Given the description of an element on the screen output the (x, y) to click on. 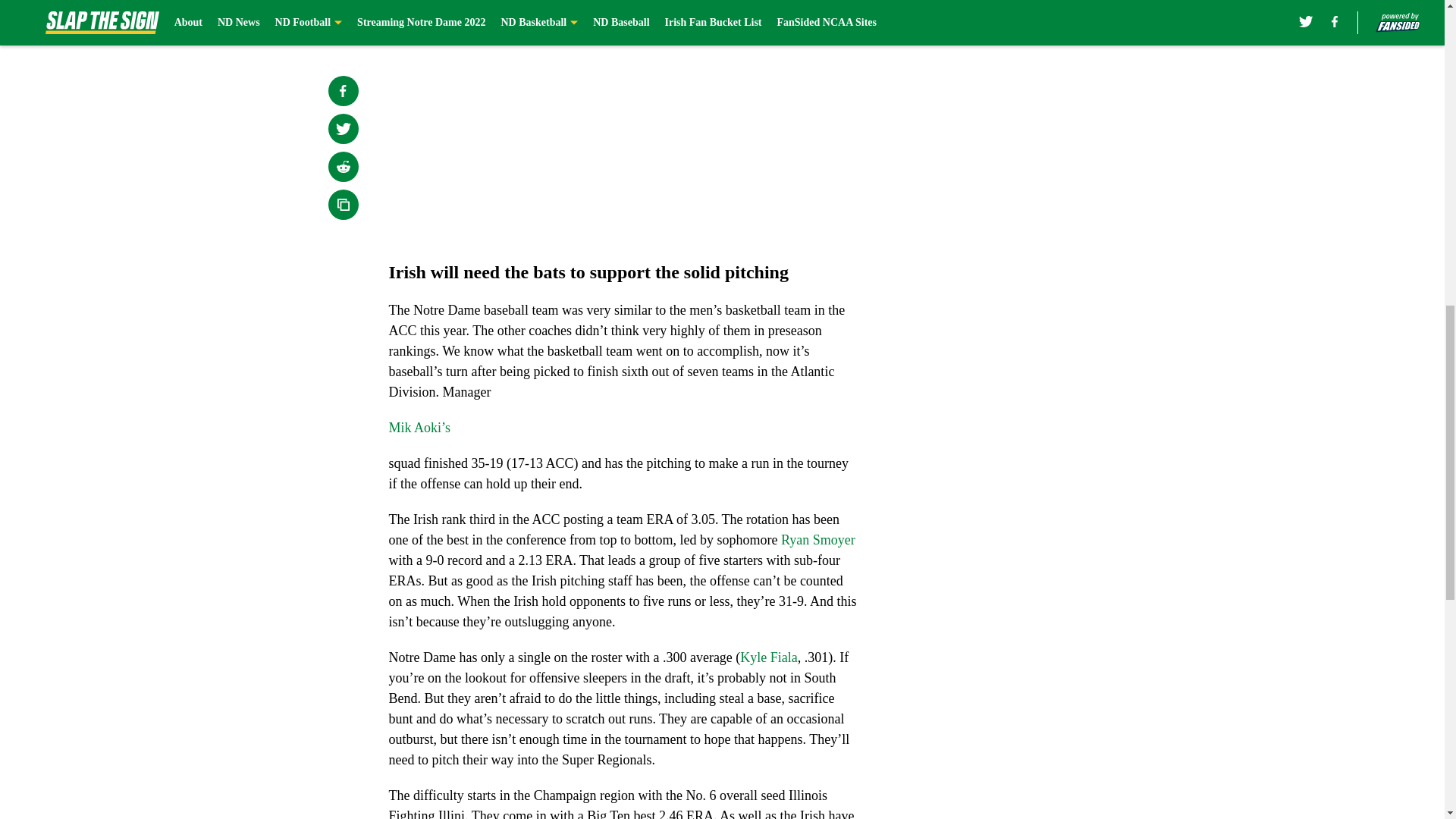
Ryan Smoyer (818, 539)
Kyle Fiala (767, 657)
